Given the description of an element on the screen output the (x, y) to click on. 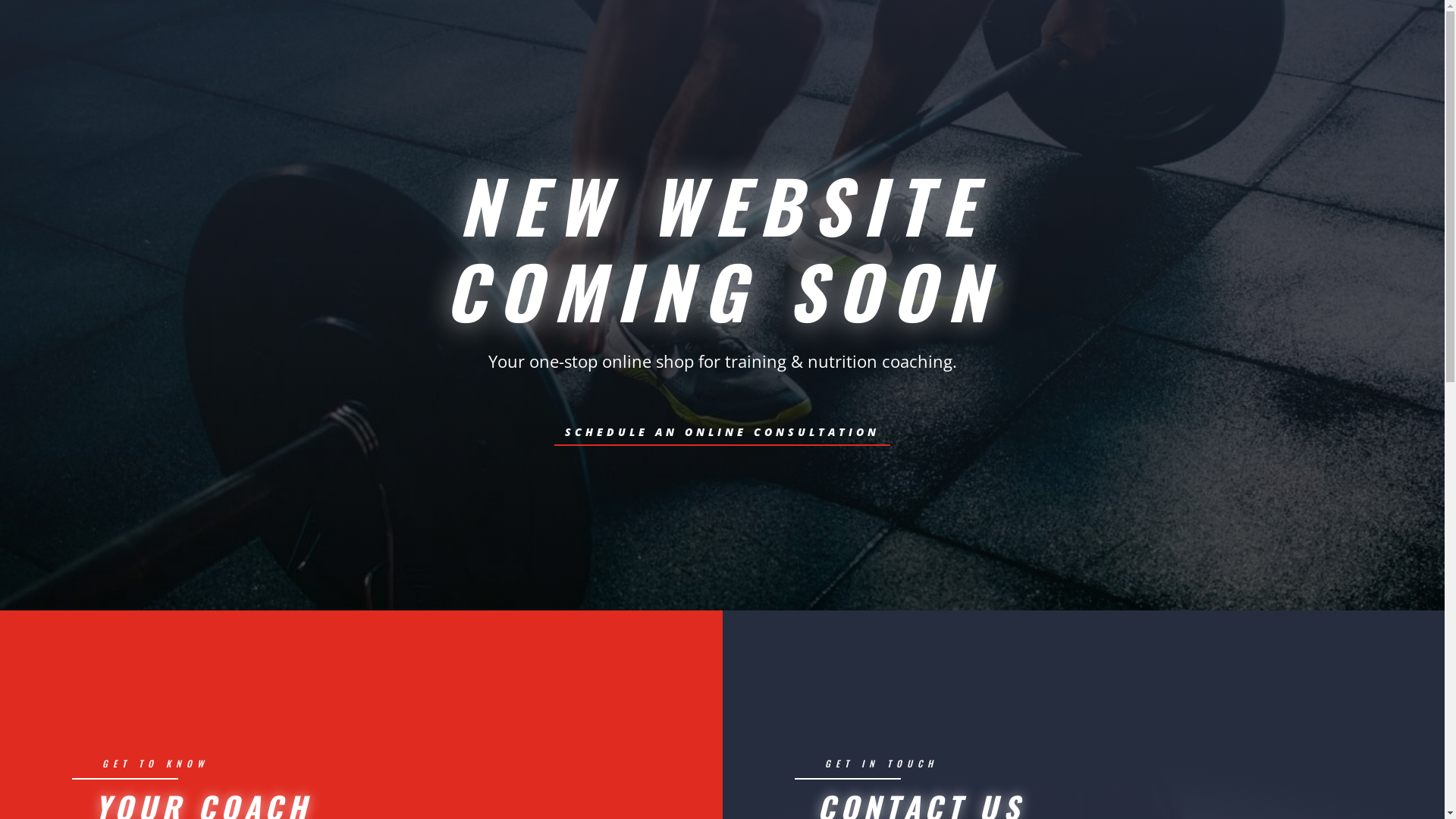
SCHEDULE AN ONLINE CONSULTATION Element type: text (722, 432)
